Given the description of an element on the screen output the (x, y) to click on. 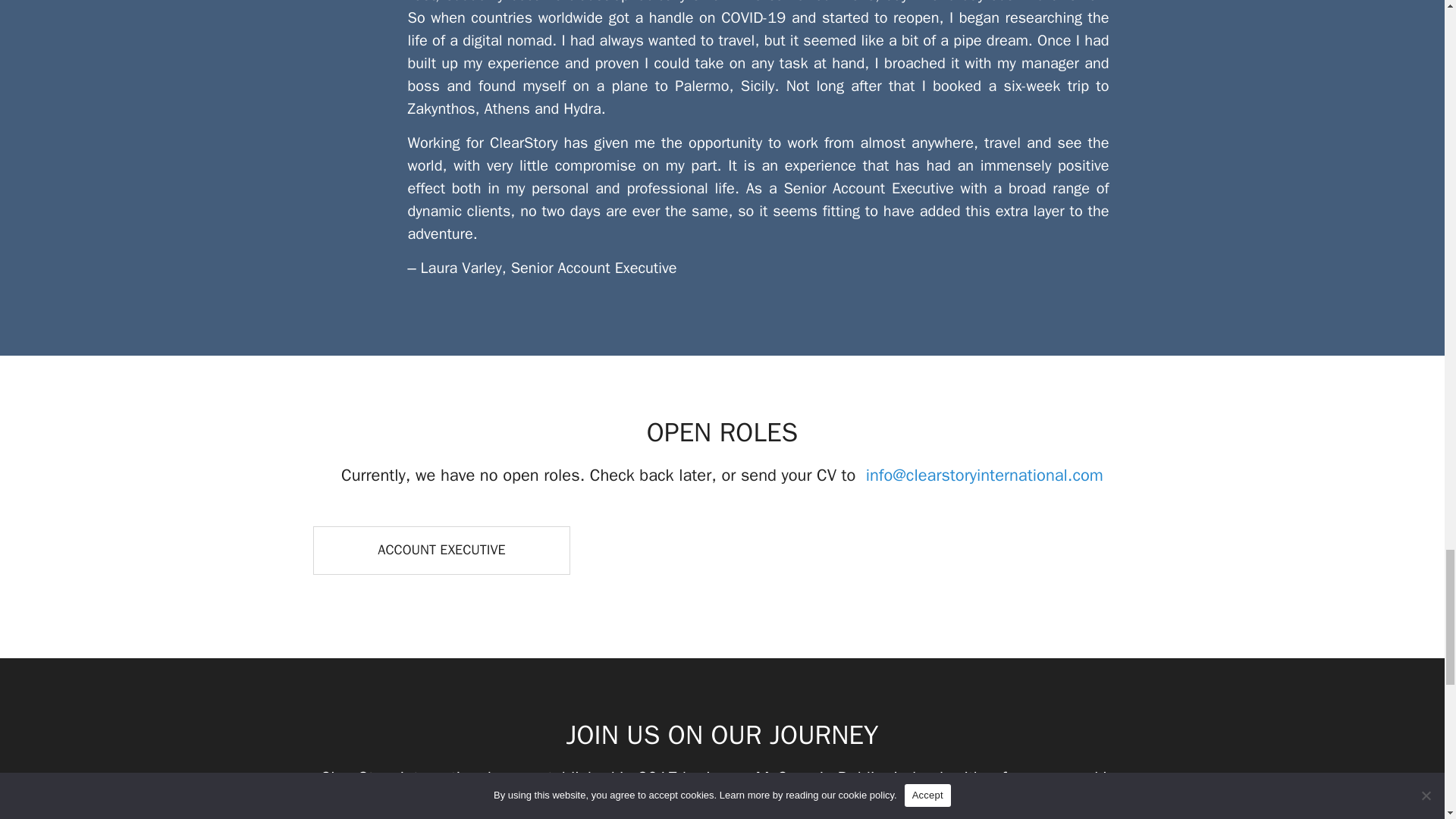
ACCOUNT EXECUTIVE (441, 549)
